Given the description of an element on the screen output the (x, y) to click on. 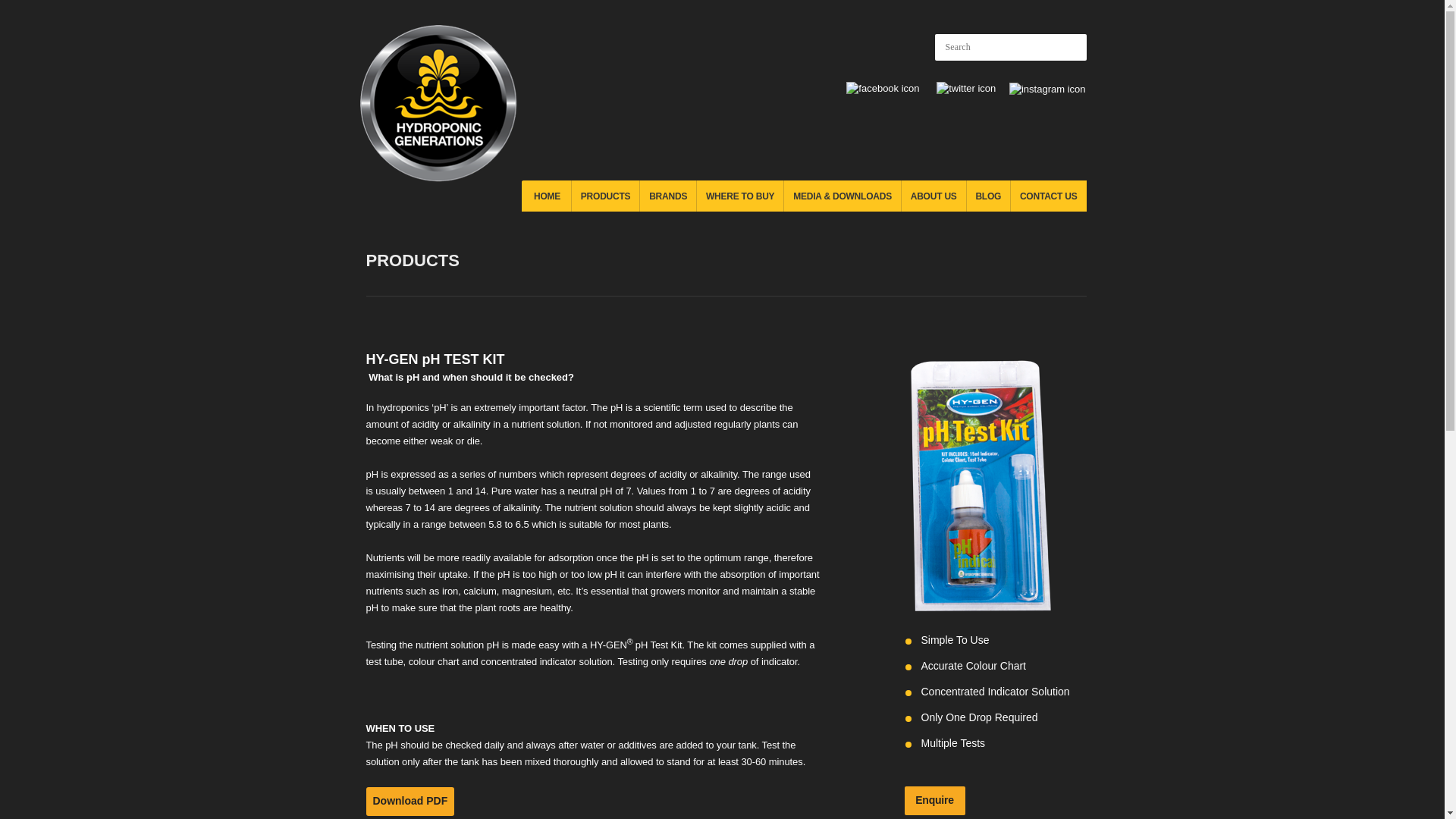
PRODUCTS Element type: text (605, 195)
BLOG Element type: text (988, 195)
ABOUT US Element type: text (933, 195)
BRANDS Element type: text (668, 195)
HOME Element type: text (546, 195)
Enquire Element type: text (933, 800)
CONTACT US Element type: text (1047, 195)
Search Element type: text (1070, 46)
WHERE TO BUY Element type: text (739, 195)
Download PDF Element type: text (409, 801)
Search for: Element type: hover (1009, 47)
MEDIA & DOWNLOADS Element type: text (842, 195)
